Given the description of an element on the screen output the (x, y) to click on. 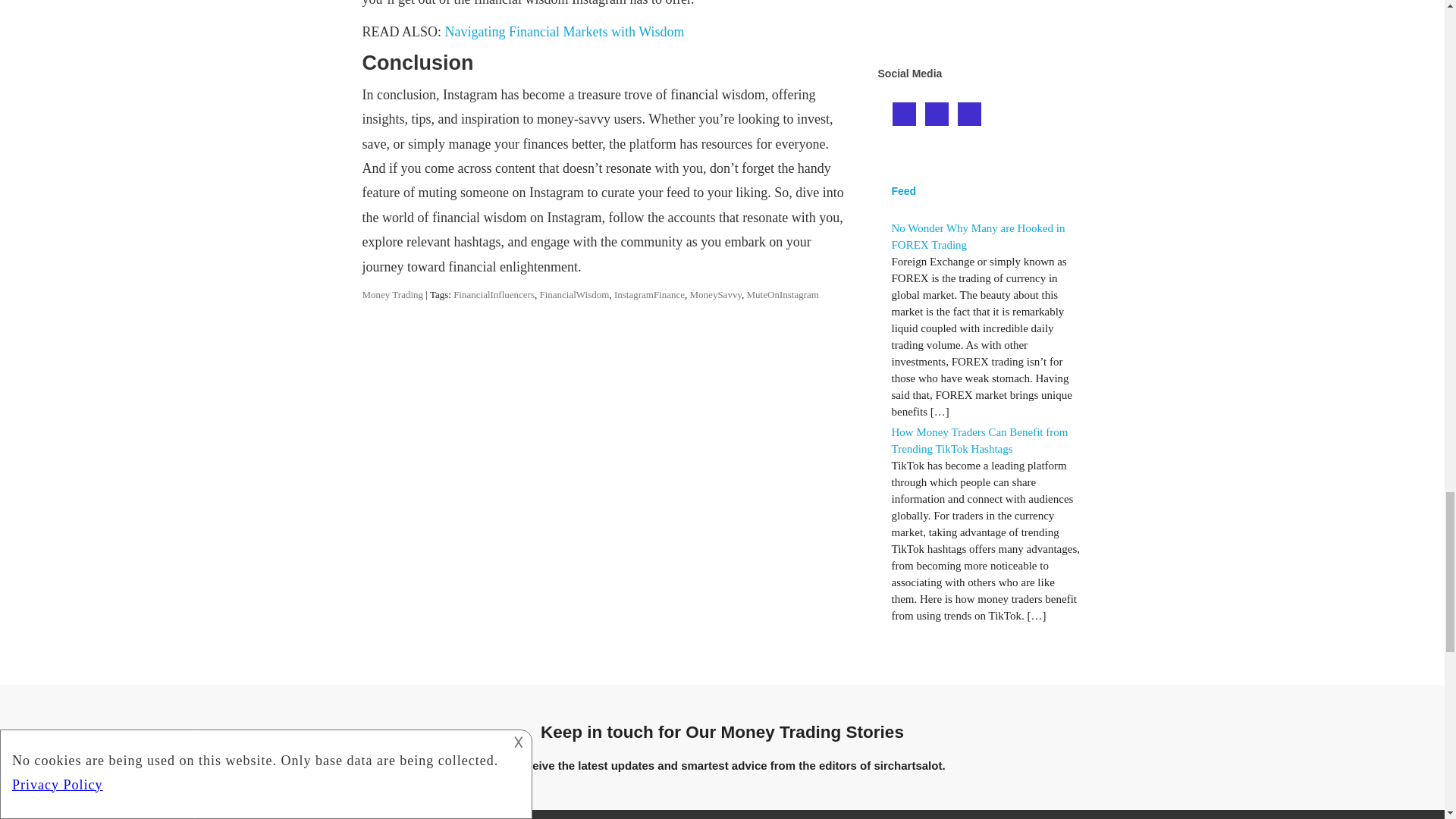
InstagramFinance (649, 294)
Money Trading (392, 294)
FinancialInfluencers (493, 294)
Navigating Financial Markets with Wisdom (564, 31)
FinancialWisdom (573, 294)
MoneySavvy (716, 294)
MuteOnInstagram (782, 294)
